Given the description of an element on the screen output the (x, y) to click on. 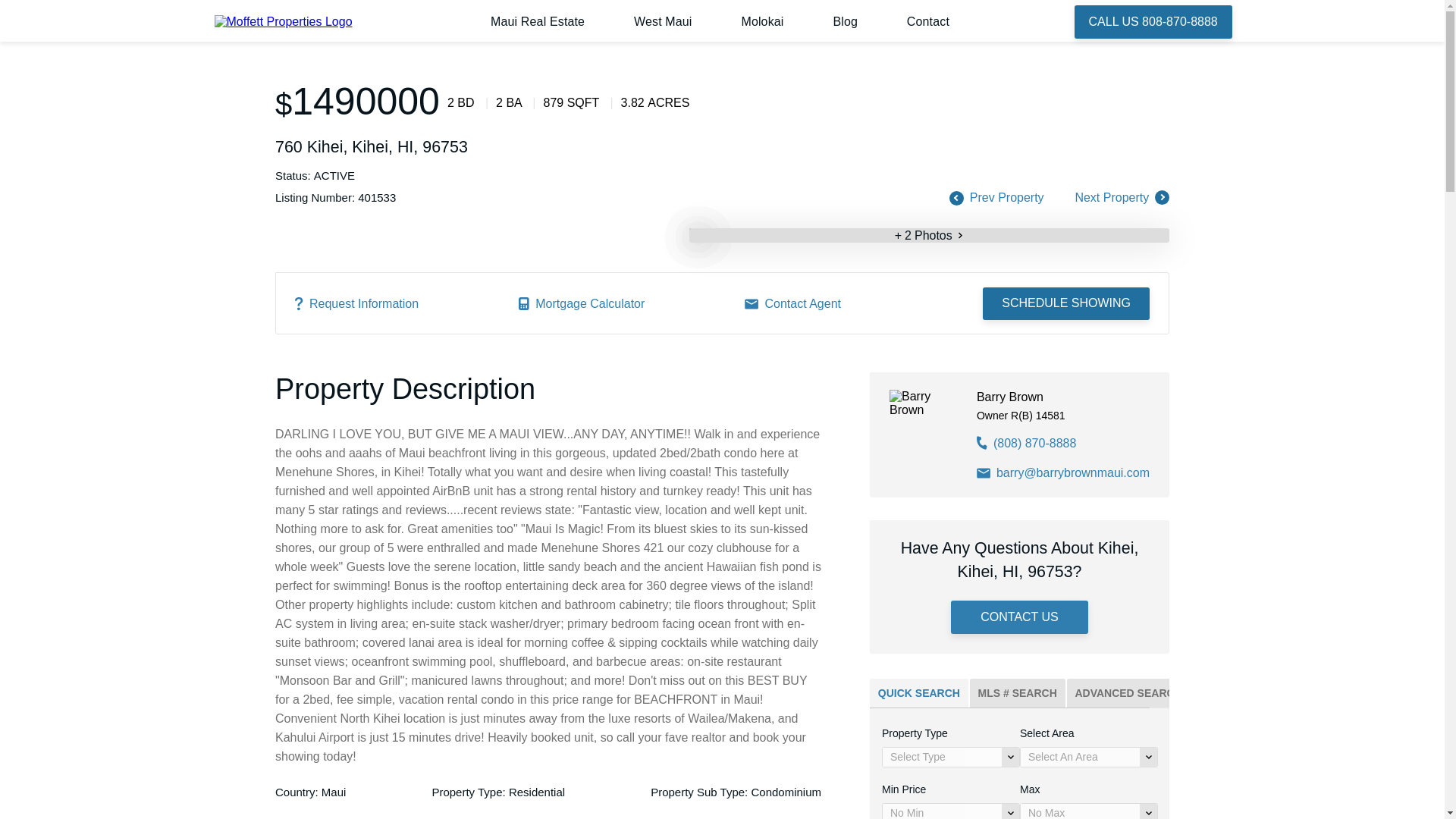
Prev Property (1005, 197)
SCHEDULE SHOWING (1066, 304)
ADVANCED SEARCH (1129, 692)
Contact (928, 21)
Molokai (762, 21)
Maui Real Estate (537, 21)
CALL US 808-870-8888 (1152, 21)
West Maui (663, 21)
Blog (844, 21)
Contact Agent (792, 303)
Request Information (357, 303)
CONTACT US (1018, 616)
Next Property (1112, 197)
Mortgage Calculator (581, 303)
QUICK SEARCH (918, 692)
